Given the description of an element on the screen output the (x, y) to click on. 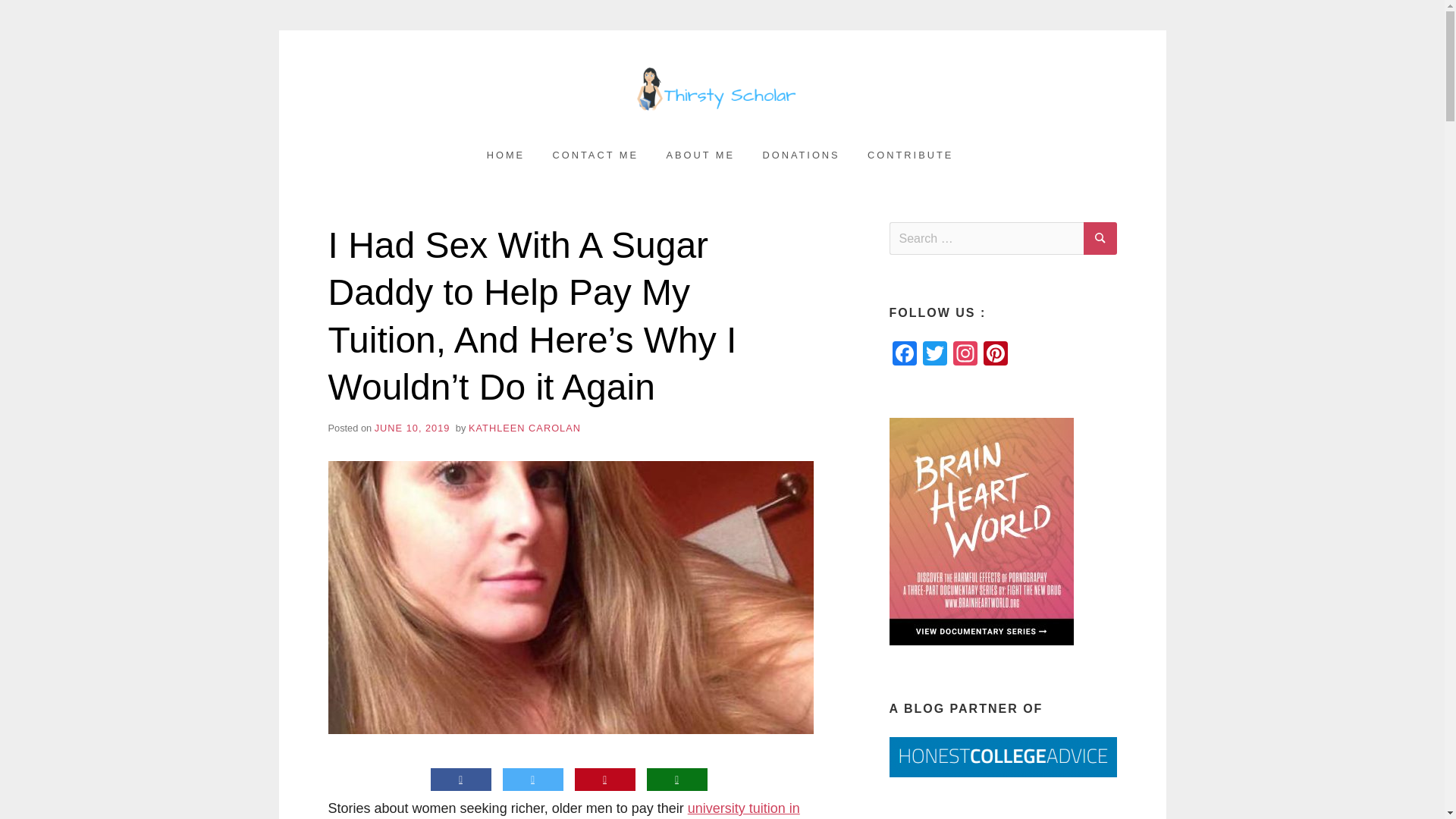
Pinterest (994, 355)
Instagram (964, 355)
KATHLEEN CAROLAN (524, 428)
Twitter (933, 355)
Search (1099, 237)
university tuition in exchange for sex (563, 809)
ABOUT ME (700, 154)
CONTACT ME (595, 154)
CONTRIBUTE (910, 154)
HOME (505, 154)
DONATIONS (801, 154)
Pinterest (994, 355)
Twitter (933, 355)
JUNE 10, 2019 (411, 428)
